Given the description of an element on the screen output the (x, y) to click on. 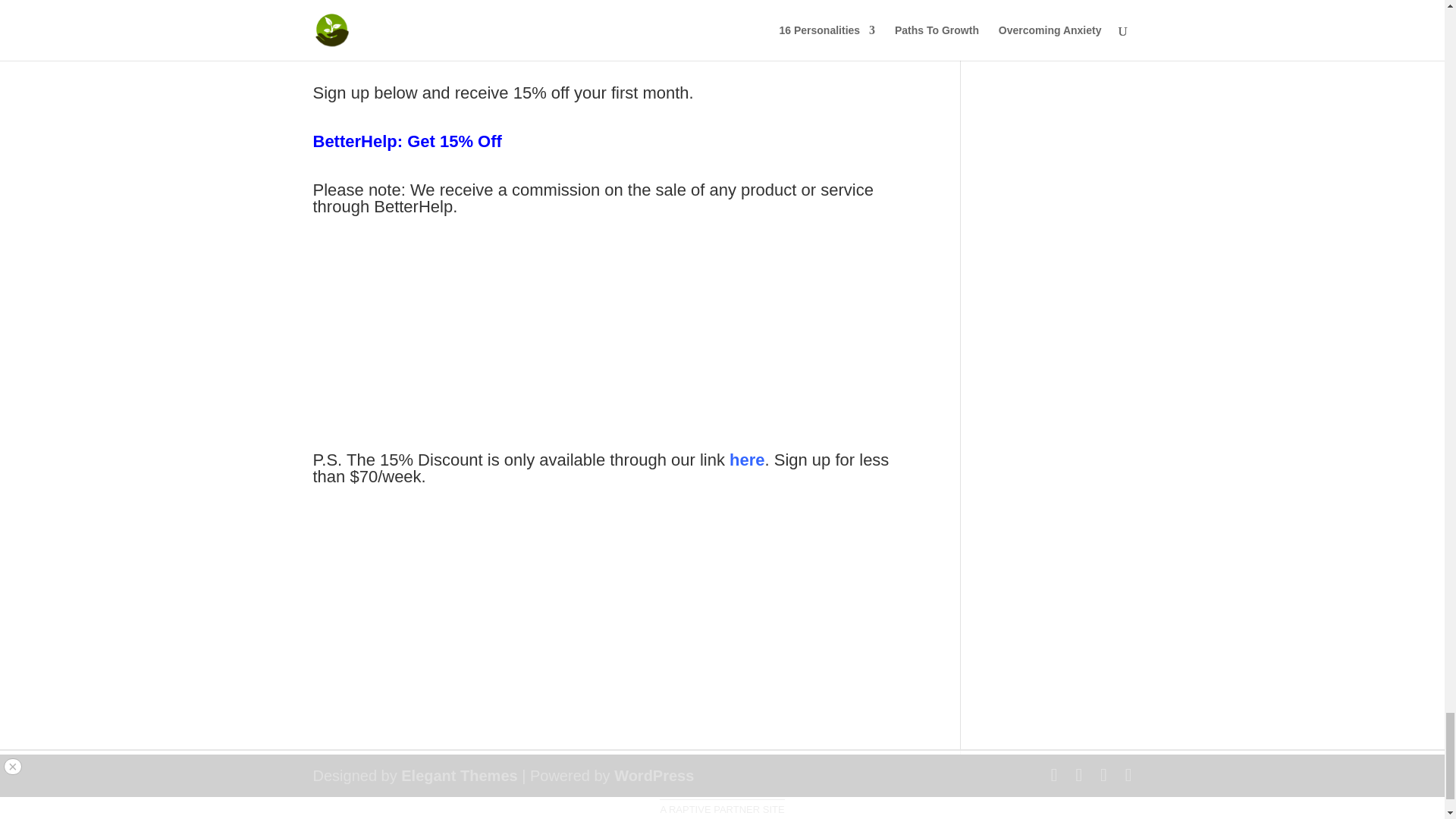
Premium WordPress Themes (458, 775)
